Given the description of an element on the screen output the (x, y) to click on. 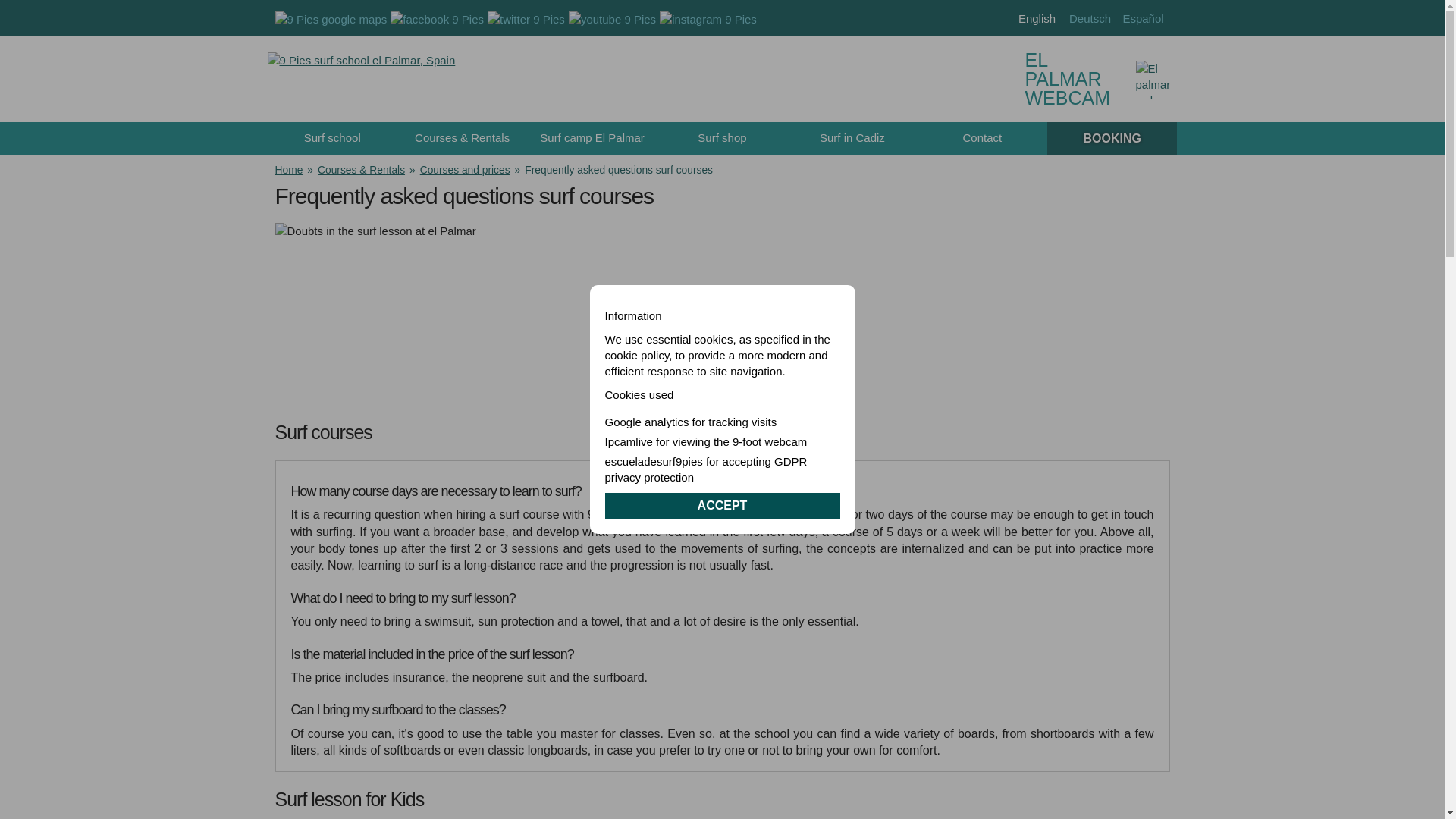
Frequently asked questions surf courses (1036, 18)
Preguntas frecuentes cursos de surf (1142, 18)
Surf camp El Palmar (591, 138)
English (1036, 18)
9 Pies surf school and surfcamp el Palmar, Cadiz (361, 78)
Surf school El Palmar 9 Pies (331, 138)
Surf courses and rentals surf boards in el Palmar (462, 138)
Deutsch (1089, 18)
EL PALMAR WEBCAM (1101, 79)
Surf school (331, 138)
